Given the description of an element on the screen output the (x, y) to click on. 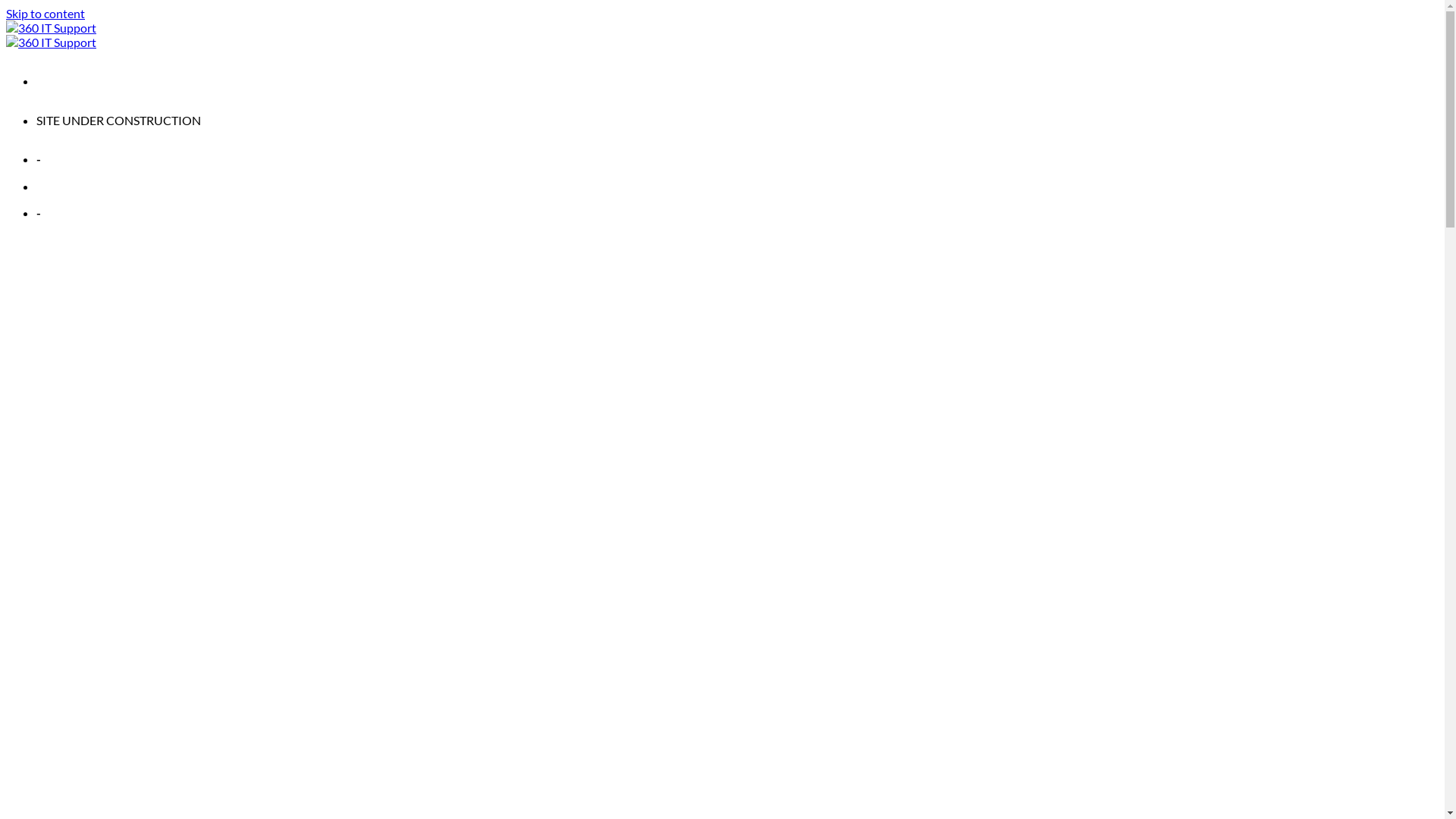
Skip to content Element type: text (45, 13)
360 IT Support - Web Development Boutique Element type: hover (51, 34)
- Element type: text (38, 212)
- Element type: text (38, 158)
